Given the description of an element on the screen output the (x, y) to click on. 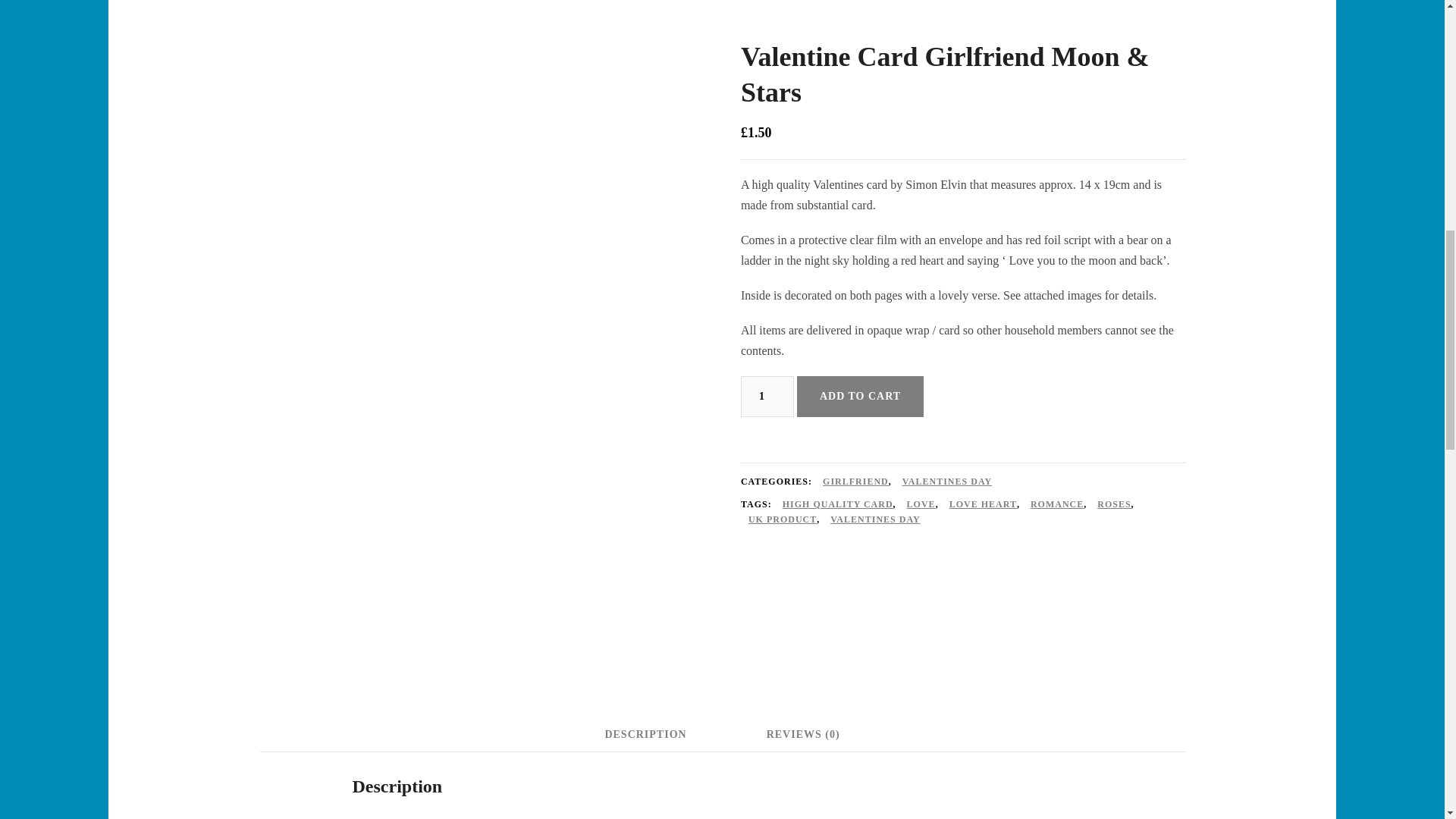
ADD TO CART (859, 395)
VALENTINES DAY (946, 482)
HIGH QUALITY CARD (838, 504)
LOVE (921, 504)
GIRLFRIEND (855, 482)
LOVE HEART (982, 504)
1 (767, 395)
ROMANCE (1056, 504)
